Given the description of an element on the screen output the (x, y) to click on. 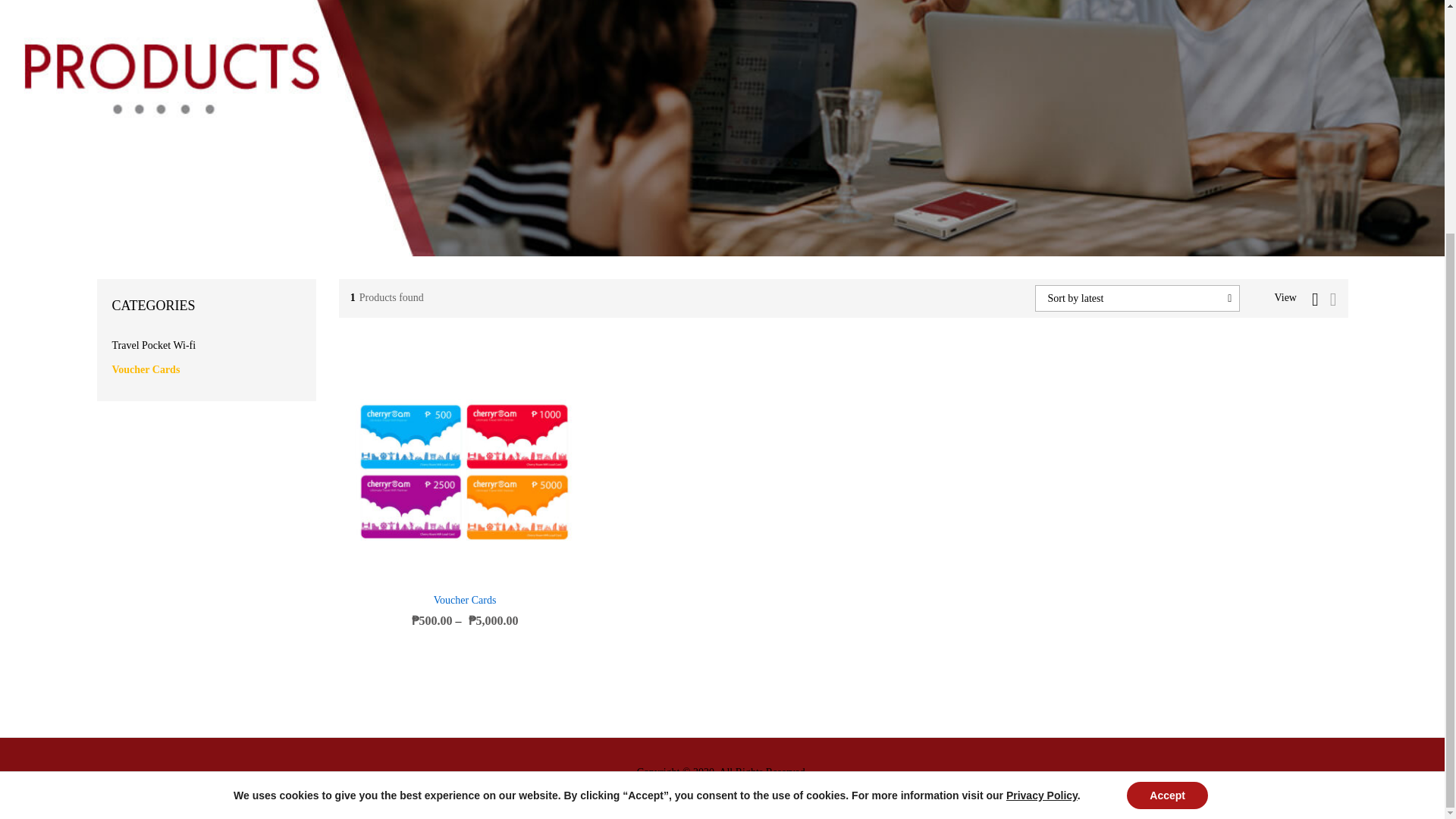
Travel Pocket Wi-fi (154, 345)
Privacy Policy (1041, 477)
Sort by latest (1165, 380)
Voucher Cards (146, 369)
Sort by average rating (1184, 380)
Sort by price: low to high (1191, 380)
Sort by popularity (1175, 380)
Voucher Cards (464, 600)
